Given the description of an element on the screen output the (x, y) to click on. 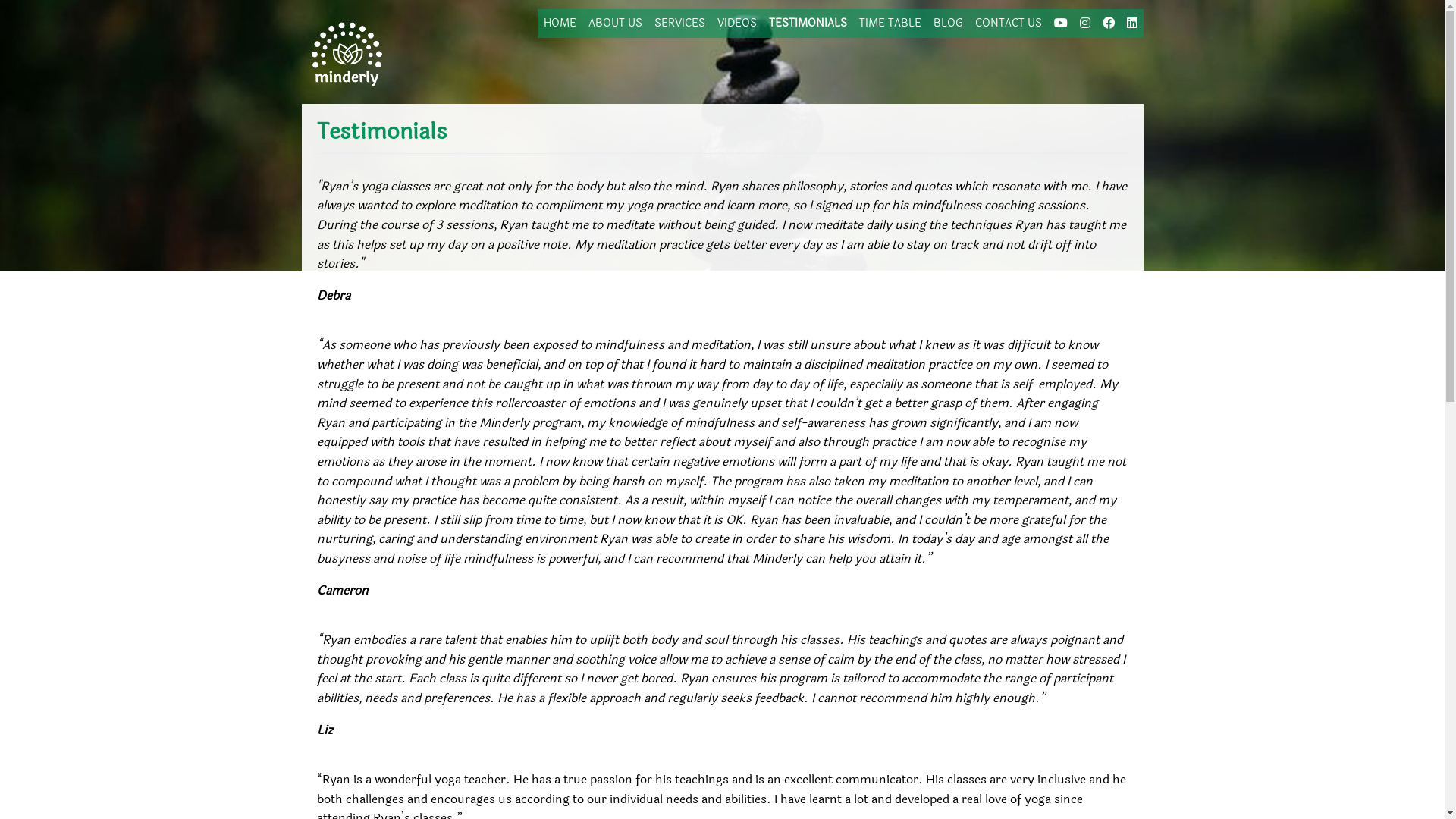
TIME TABLE Element type: text (889, 23)
SERVICES Element type: text (678, 23)
HOME Element type: text (558, 23)
ABOUT US Element type: text (615, 23)
VIDEOS Element type: text (736, 23)
BLOG Element type: text (947, 23)
CONTACT US Element type: text (1008, 23)
TESTIMONIALS Element type: text (807, 23)
